Given the description of an element on the screen output the (x, y) to click on. 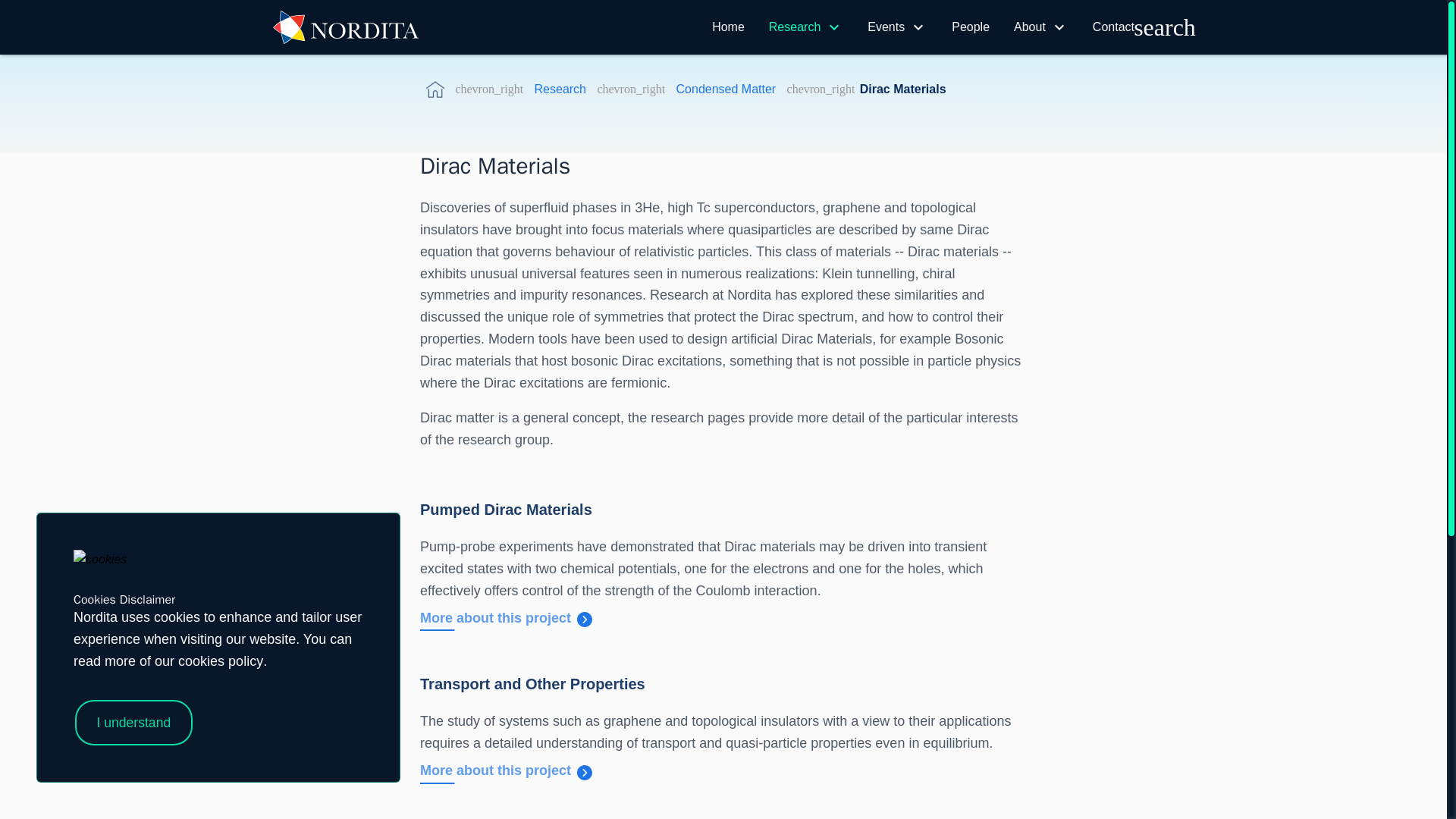
Home (727, 26)
About (1029, 26)
Research (794, 26)
Contact (1113, 26)
search (1164, 27)
People (971, 26)
Events (885, 26)
